Given the description of an element on the screen output the (x, y) to click on. 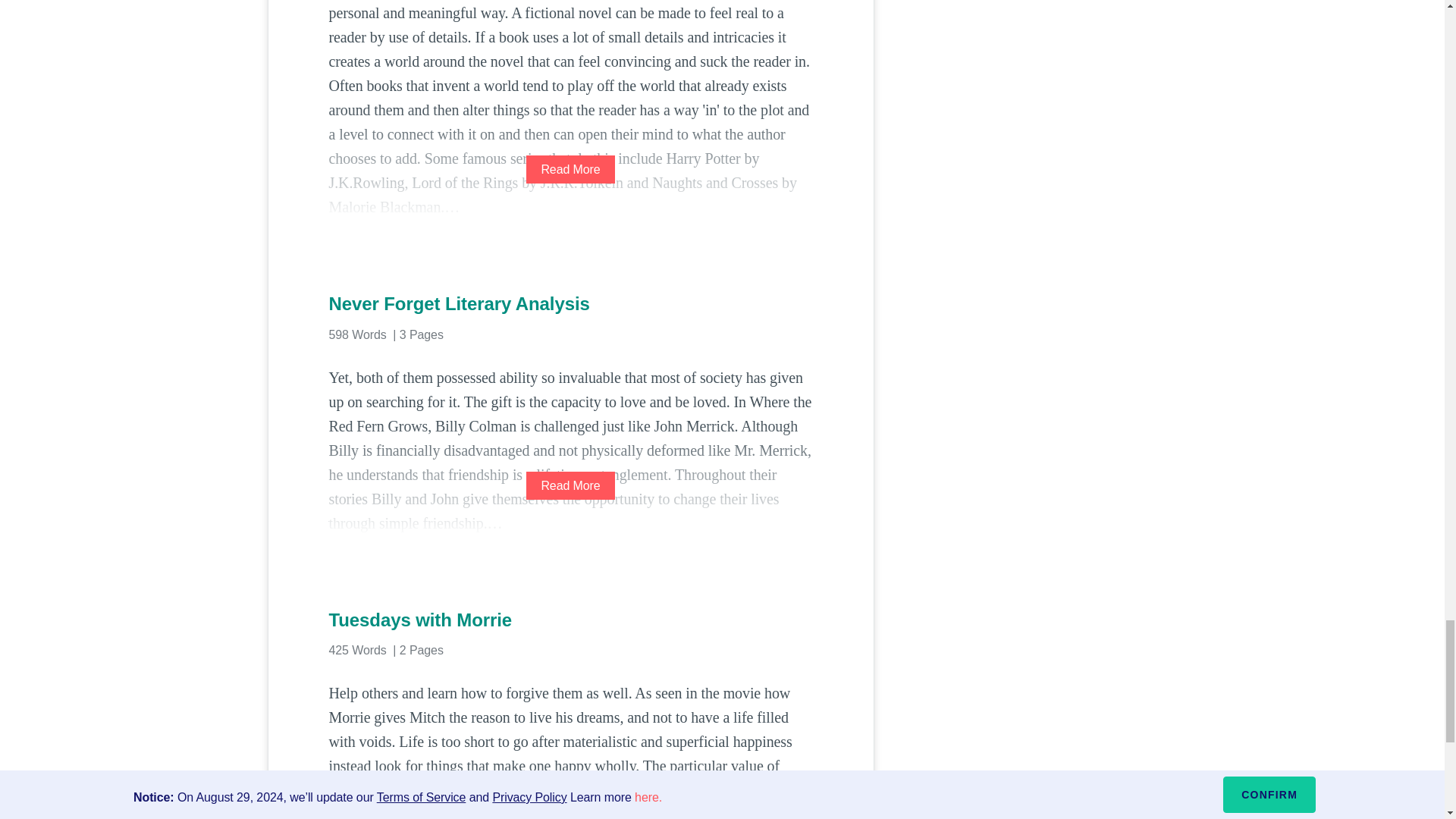
Read More (569, 169)
Read More (569, 815)
Tuesdays with Morrie (570, 620)
Never Forget Literary Analysis (570, 303)
Read More (569, 485)
